Given the description of an element on the screen output the (x, y) to click on. 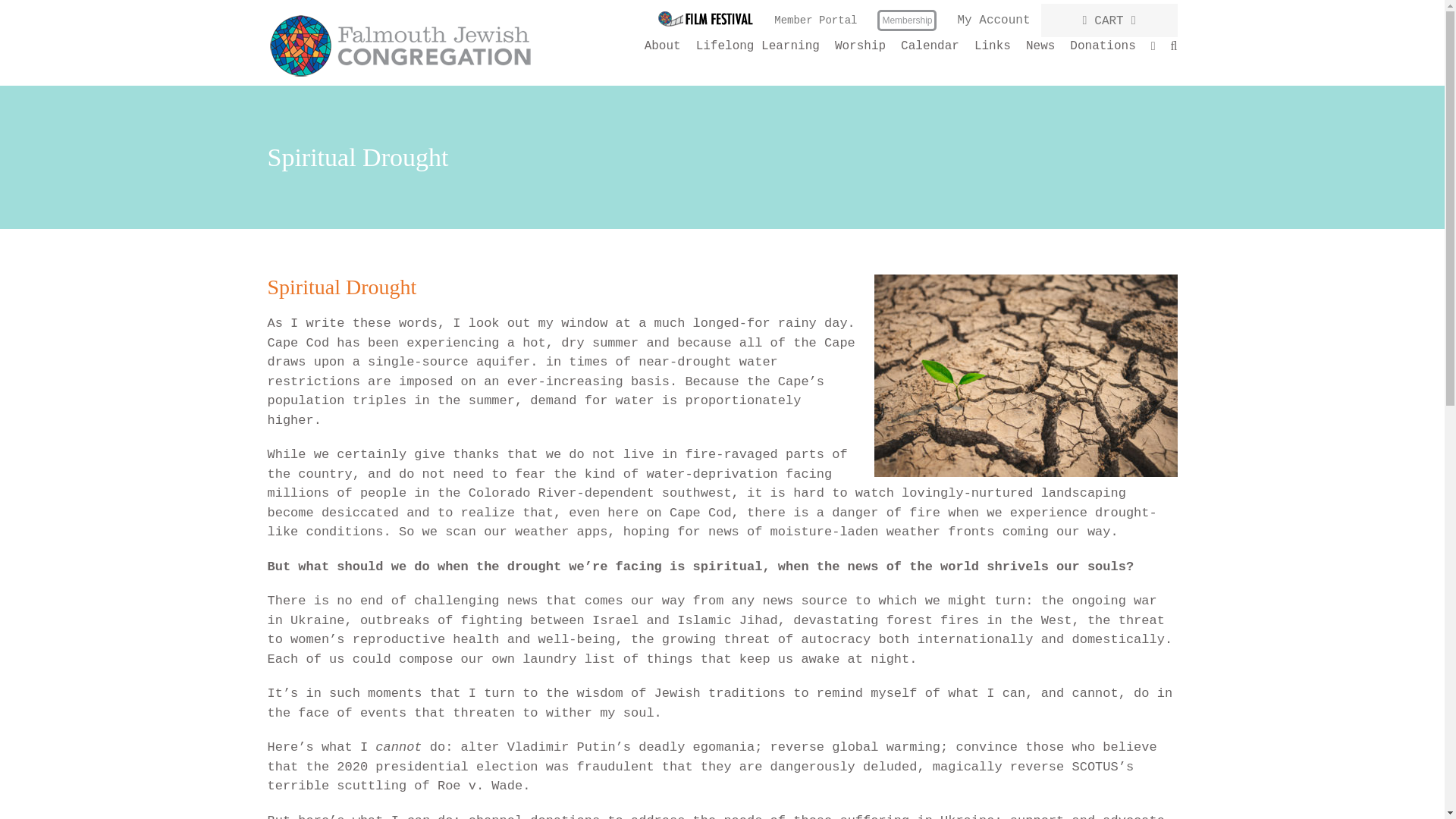
Membership (906, 20)
Member Portal (815, 20)
Log In (1037, 150)
CART (1108, 20)
My Account (993, 20)
Lifelong Learning (757, 45)
Calendar (930, 45)
Donations (1102, 45)
